Given the description of an element on the screen output the (x, y) to click on. 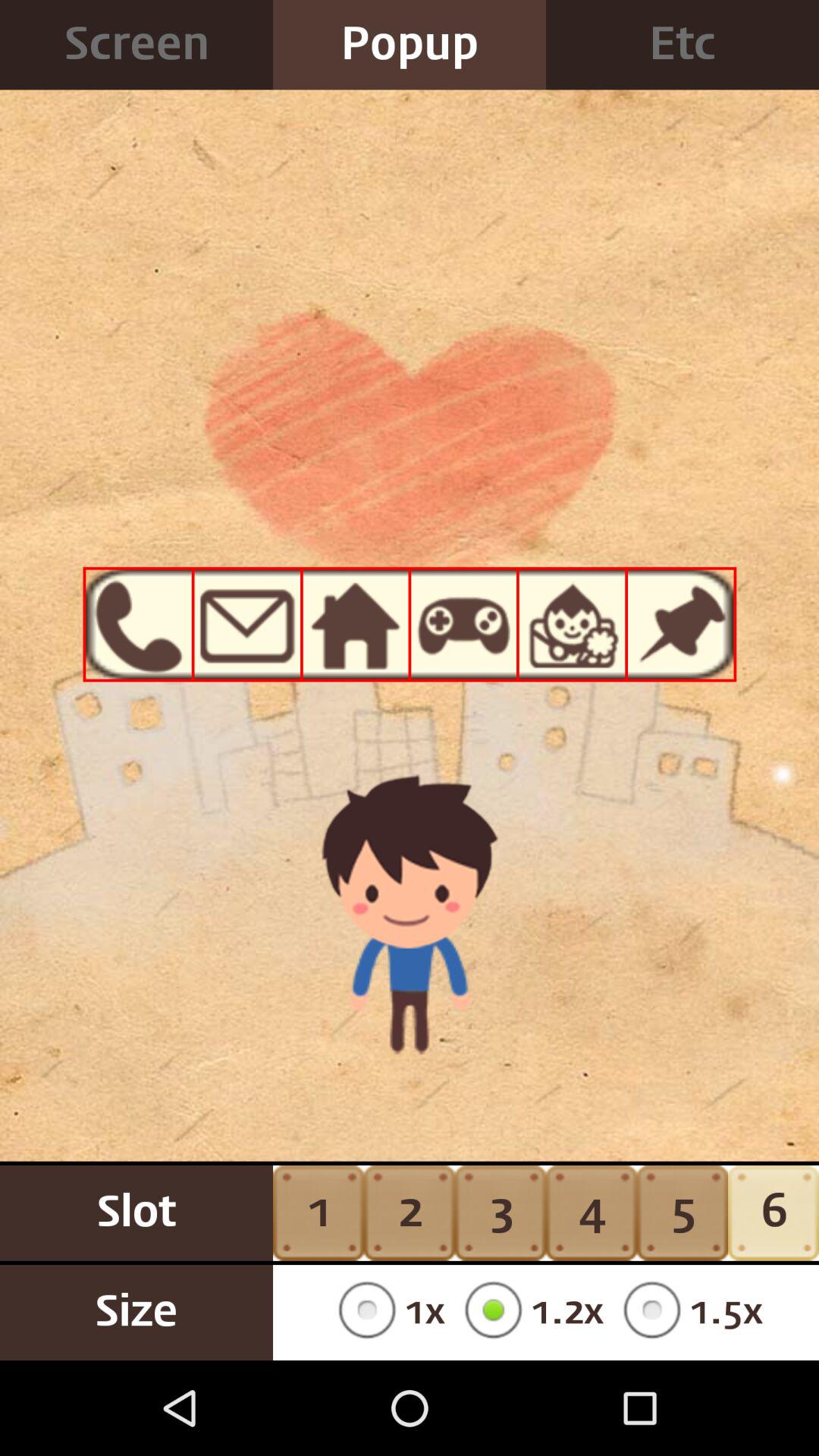
open the item next to 3 icon (591, 1212)
